Given the description of an element on the screen output the (x, y) to click on. 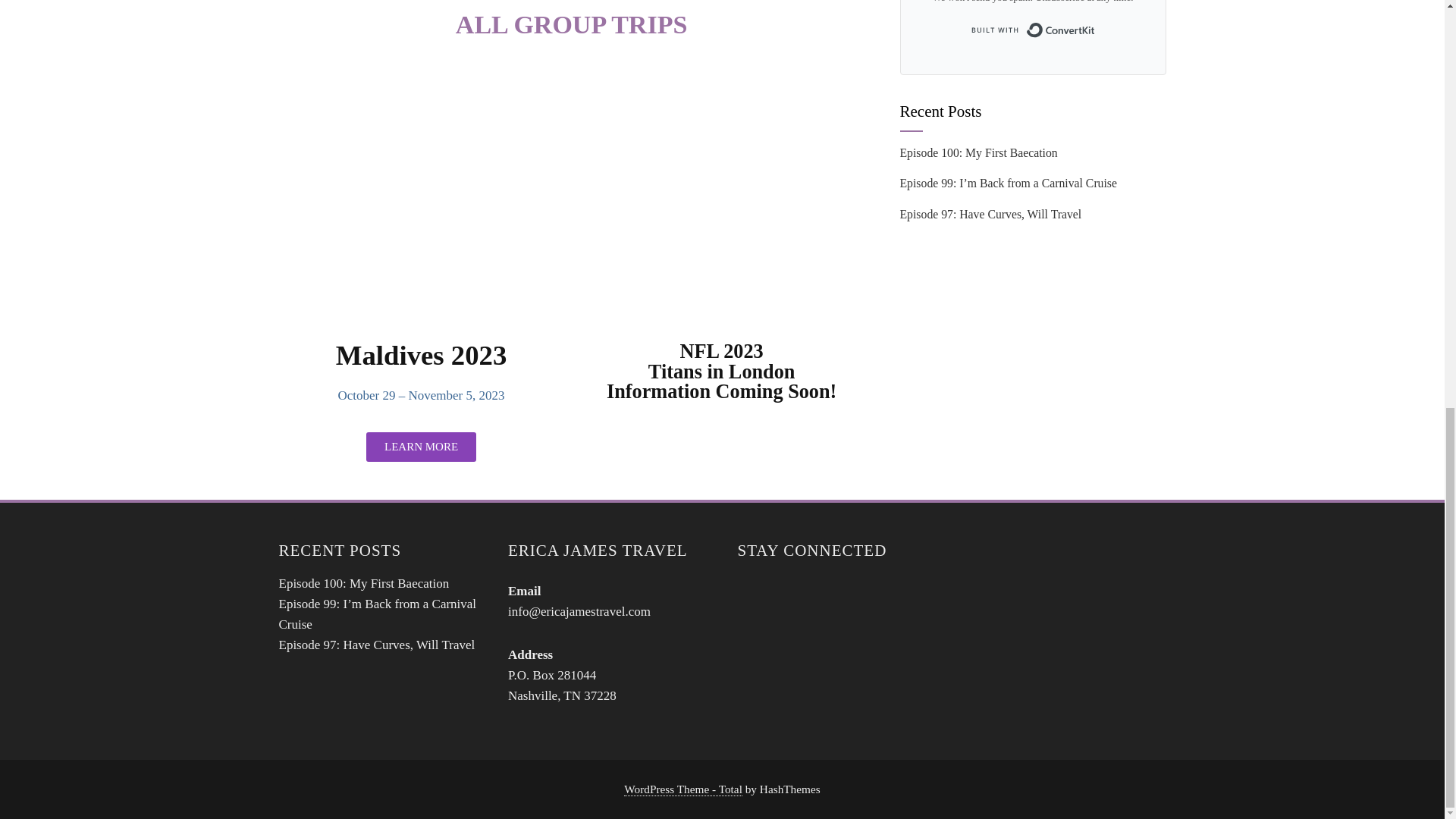
WordPress Theme - Total (683, 789)
Episode 97: Have Curves, Will Travel (377, 644)
Episode 100: My First Baecation (364, 583)
Episode 100: My First Baecation (364, 583)
LEARN MORE (421, 446)
Episode 100: My First Baecation (978, 152)
Built with ConvertKit (1032, 30)
Episode 97: Have Curves, Will Travel (990, 214)
Episode 97: Have Curves, Will Travel (377, 644)
